Given the description of an element on the screen output the (x, y) to click on. 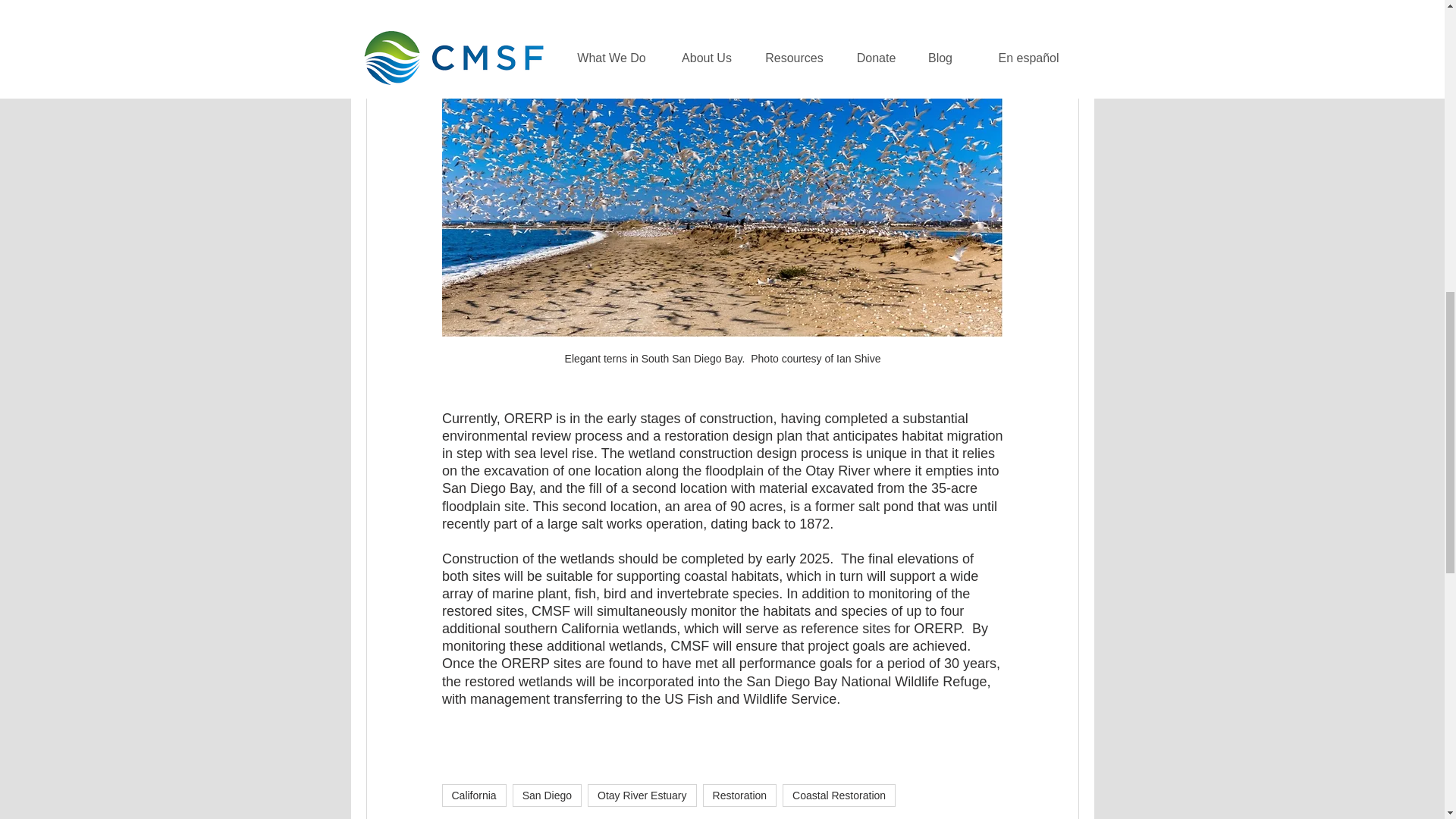
San Diego (546, 794)
Otay River Estuary (641, 794)
California (473, 794)
